Given the description of an element on the screen output the (x, y) to click on. 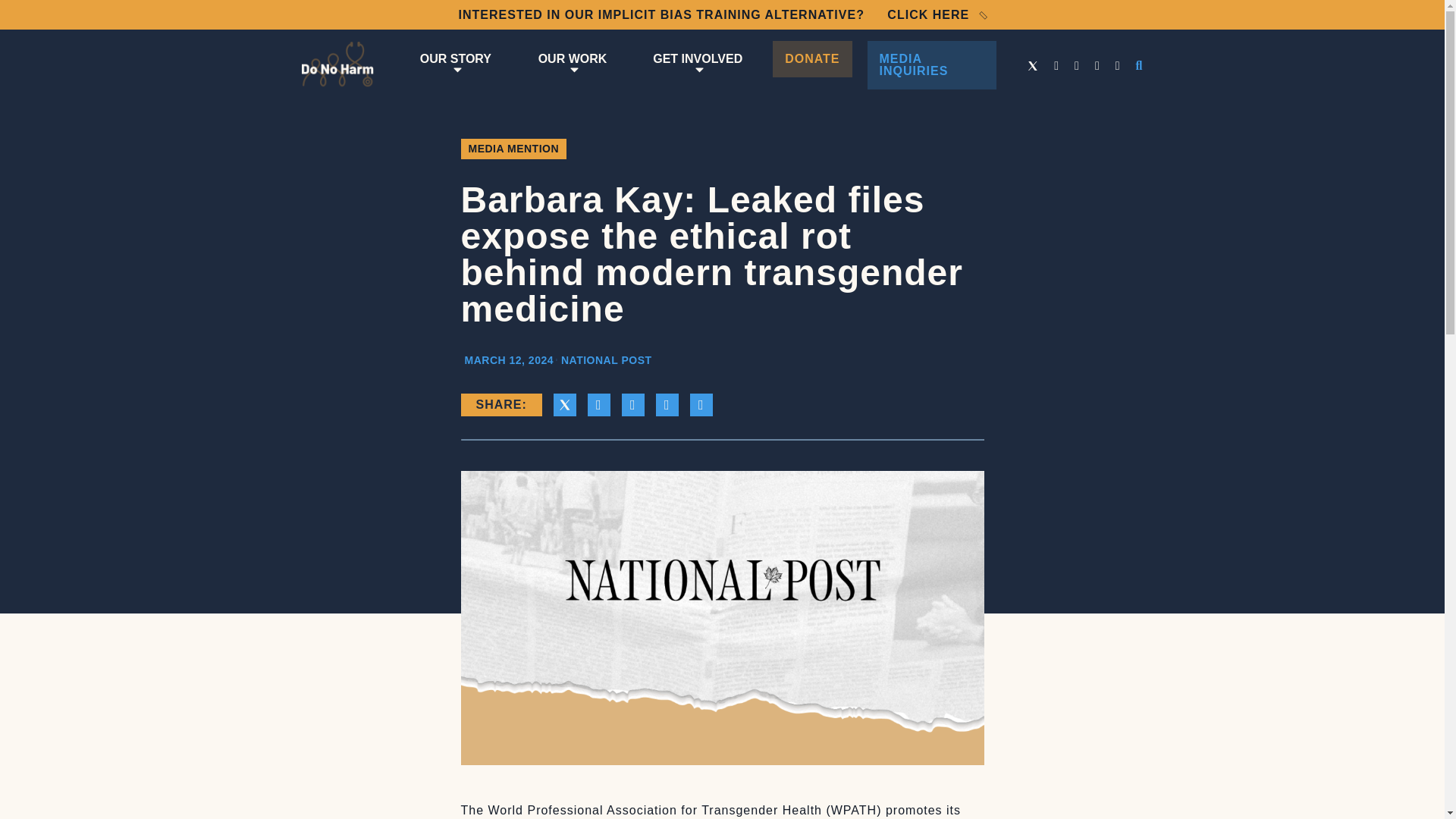
OUR WORK (572, 64)
DONATE (812, 58)
GET INVOLVED (697, 64)
OUR STORY (455, 64)
Twitter (1032, 65)
CLICK HERE (935, 14)
MEDIA INQUIRIES (932, 64)
